Given the description of an element on the screen output the (x, y) to click on. 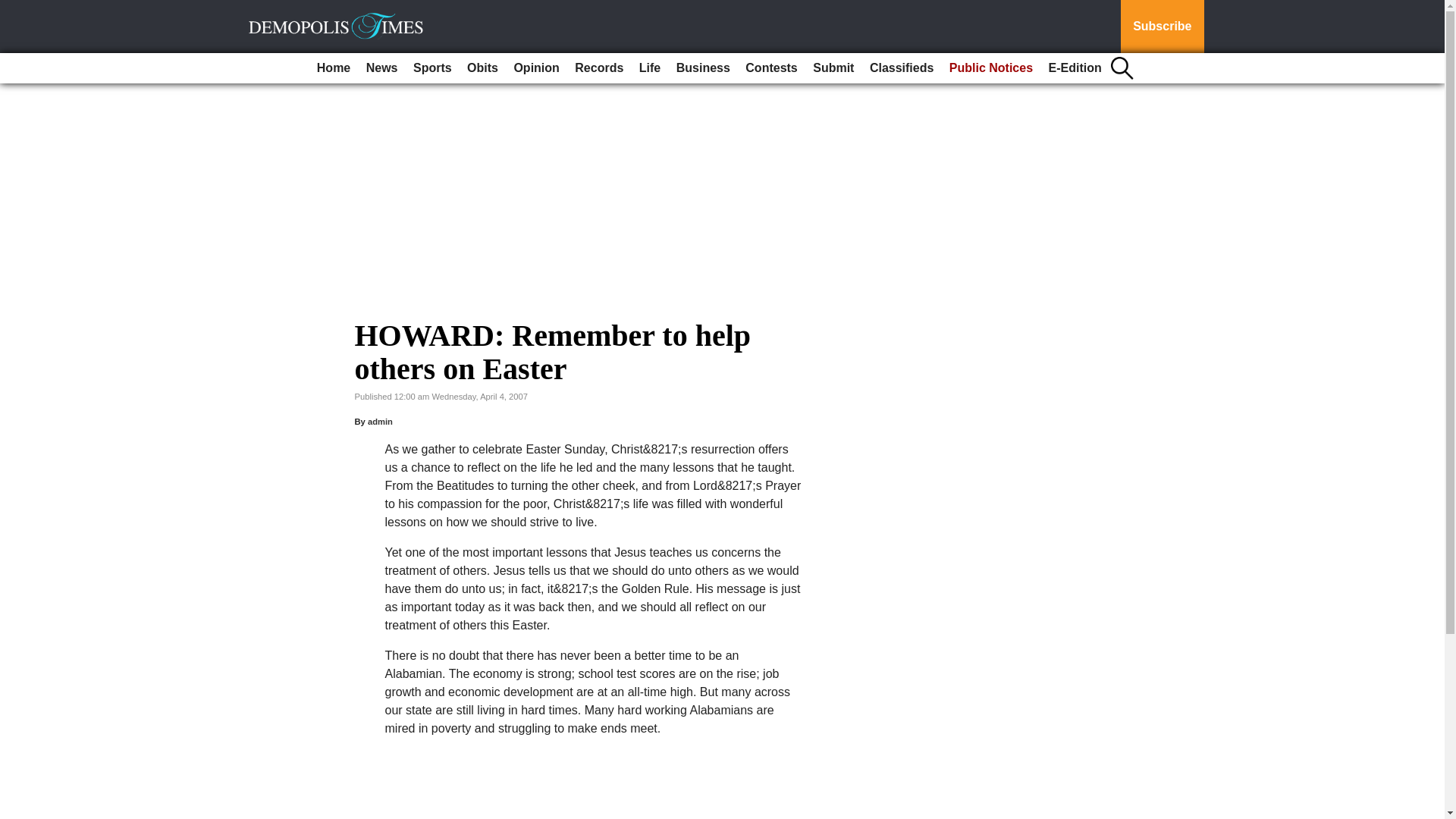
Life (649, 68)
Public Notices (991, 68)
Business (702, 68)
Classifieds (901, 68)
Contests (771, 68)
Obits (482, 68)
admin (380, 420)
Home (333, 68)
Go (13, 9)
E-Edition (1075, 68)
